Given the description of an element on the screen output the (x, y) to click on. 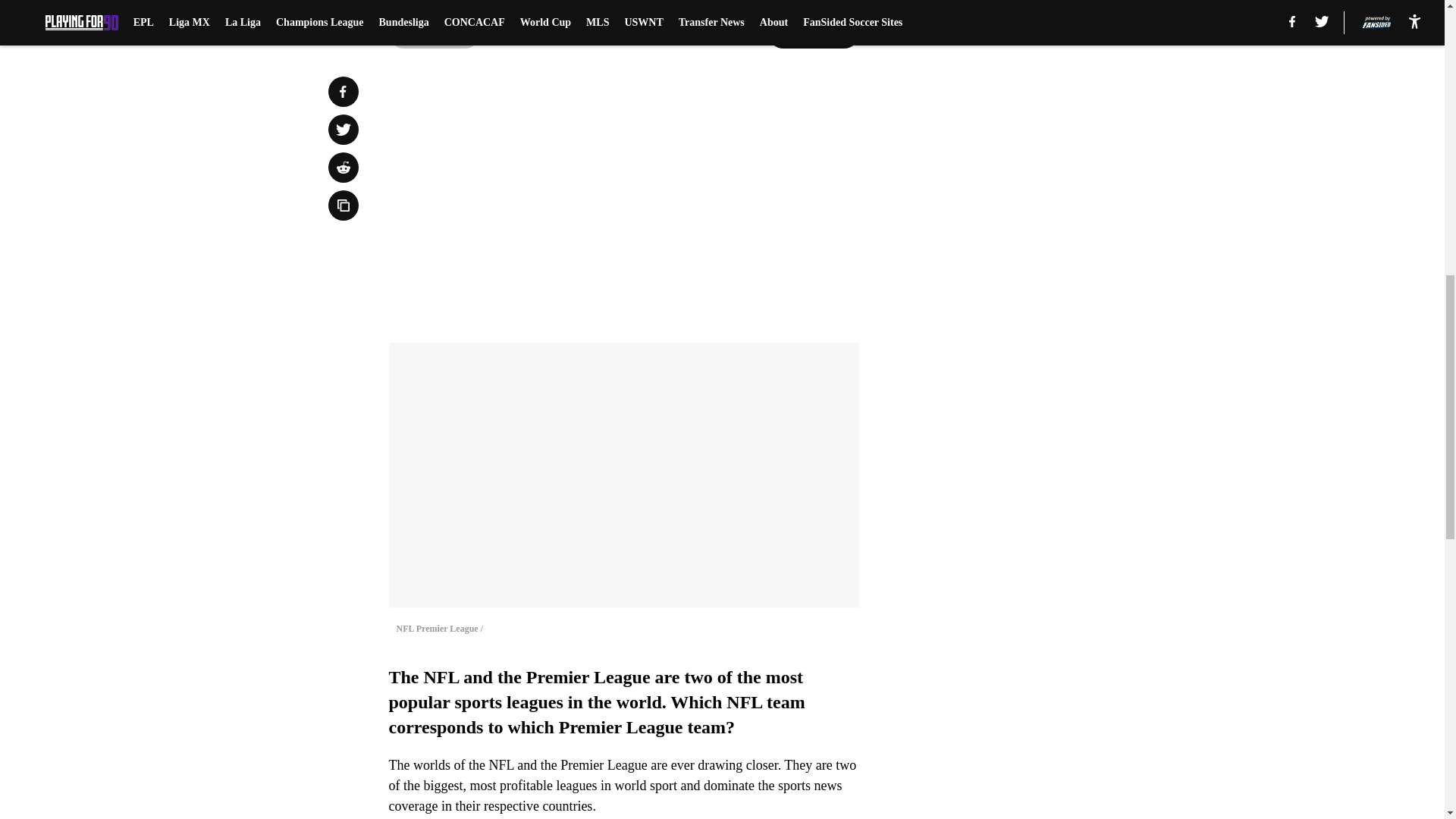
Next (813, 33)
Prev (433, 33)
